Given the description of an element on the screen output the (x, y) to click on. 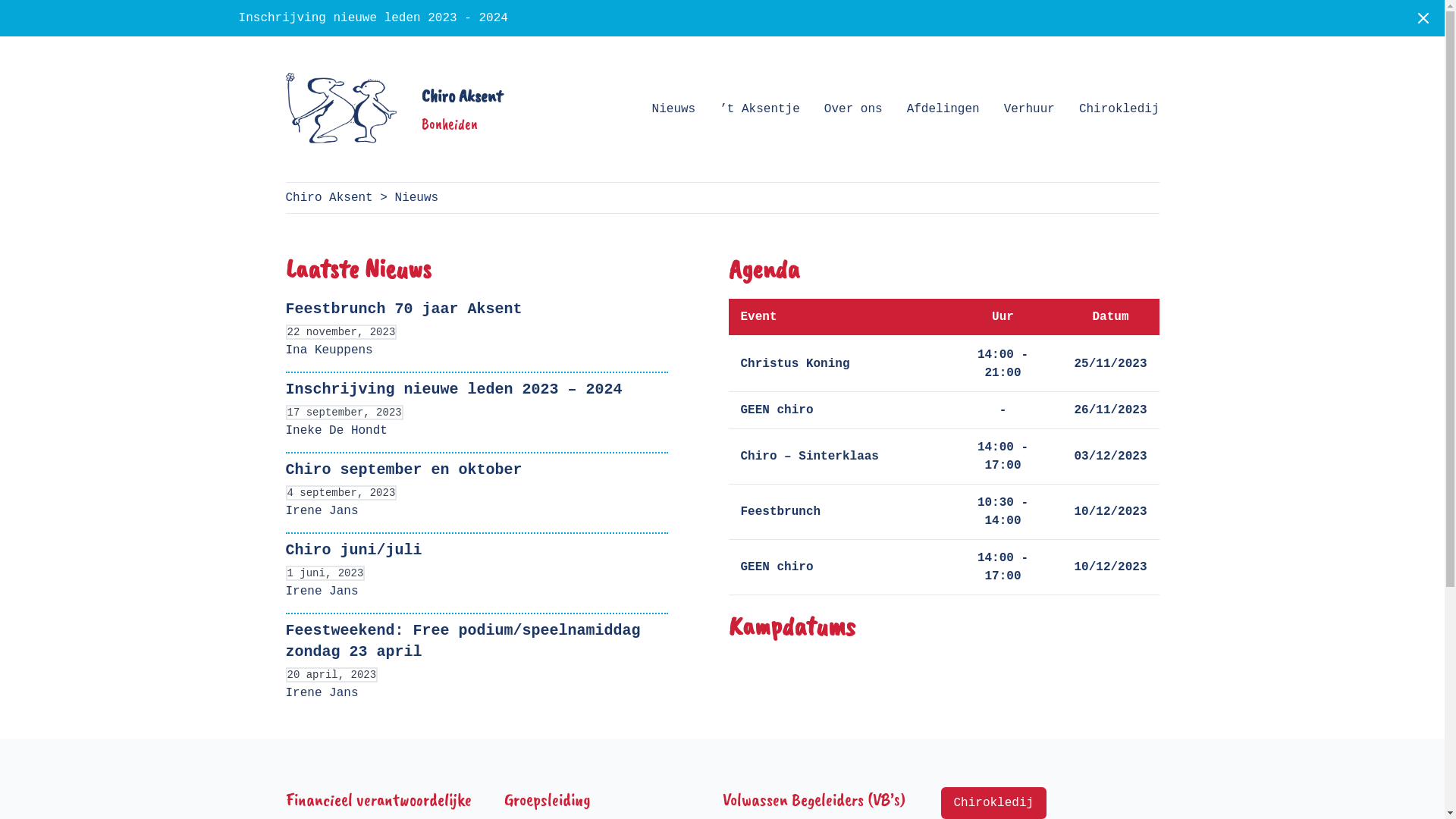
Feestweekend: Free podium/speelnamiddag zondag 23 april Element type: text (462, 640)
Feestbrunch 70 jaar Aksent Element type: text (403, 308)
Chiro Aksent Element type: text (328, 197)
Nieuws Element type: text (674, 109)
Inschrijving nieuwe leden 2023 - 2024 Element type: text (373, 18)
Verhuur Element type: text (1029, 109)
Over ons Element type: text (853, 109)
Chirokledij Element type: text (1119, 109)
Dismiss Element type: text (1423, 18)
Chiro Aksent
Bonheiden Element type: text (393, 108)
Chiro september en oktober Element type: text (403, 469)
Afdelingen Element type: text (942, 109)
Chiro juni/juli Element type: text (353, 549)
